Given the description of an element on the screen output the (x, y) to click on. 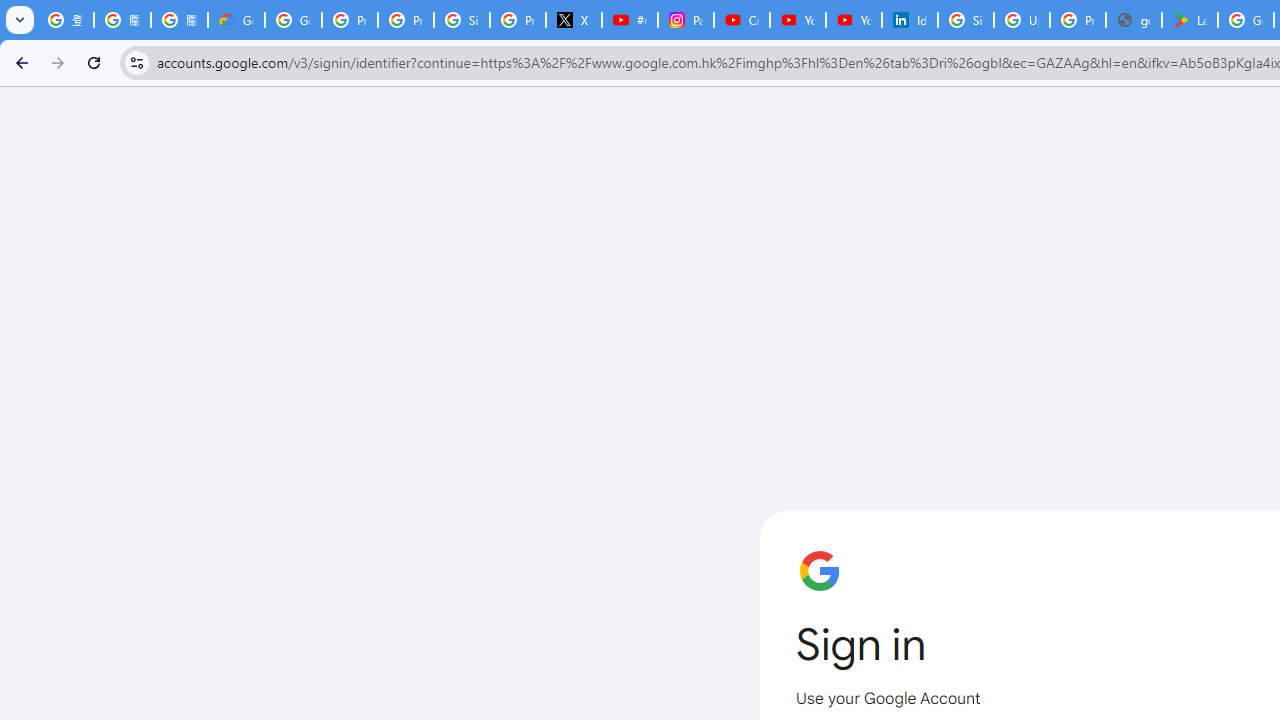
Google Cloud Privacy Notice (235, 20)
X (573, 20)
Last Shelter: Survival - Apps on Google Play (1190, 20)
